Given the description of an element on the screen output the (x, y) to click on. 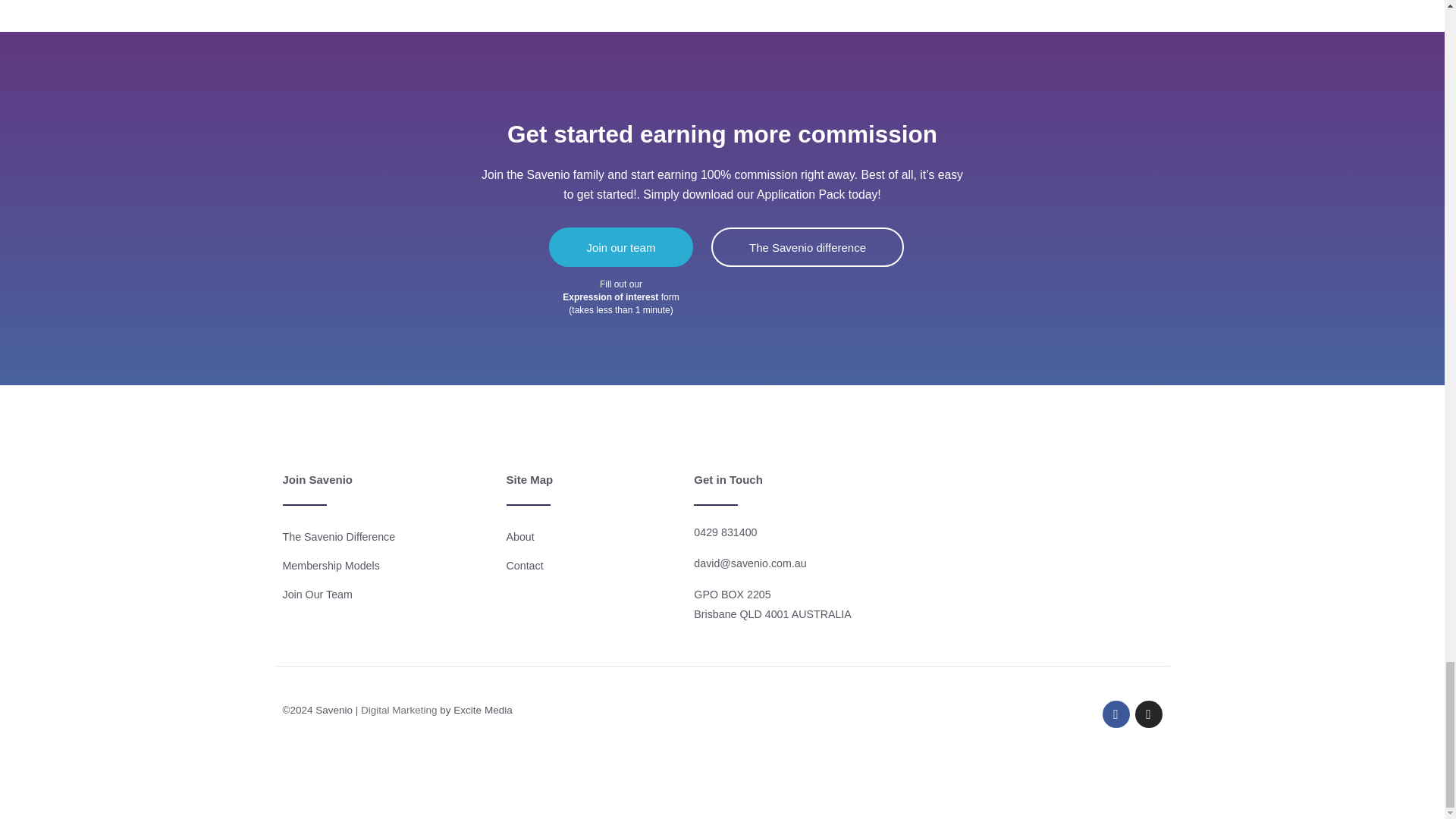
Membership Models (386, 565)
The Savenio difference (807, 246)
Contact (592, 565)
The Savenio Difference (386, 536)
Join our team (621, 246)
Join Our Team (386, 594)
About (592, 536)
